Given the description of an element on the screen output the (x, y) to click on. 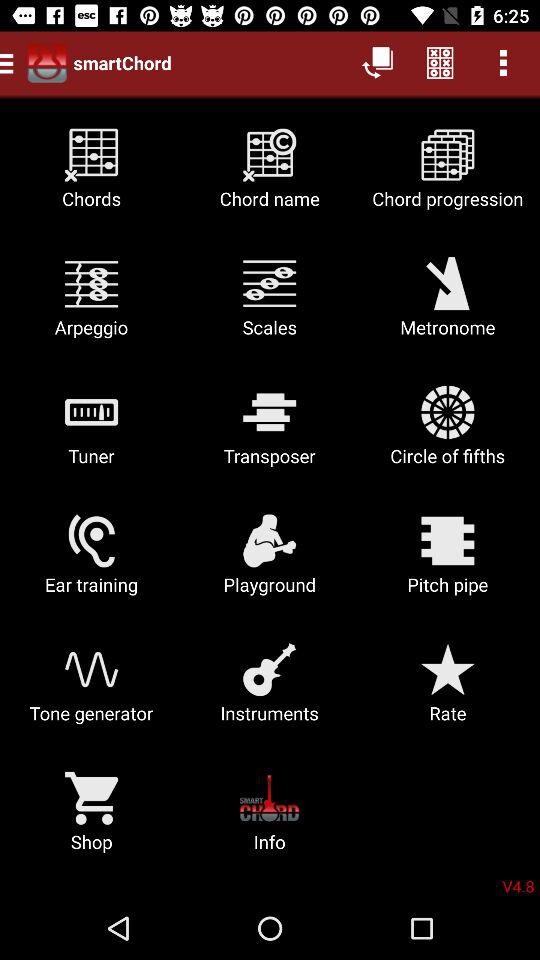
click the item above the transposer item (447, 303)
